Given the description of an element on the screen output the (x, y) to click on. 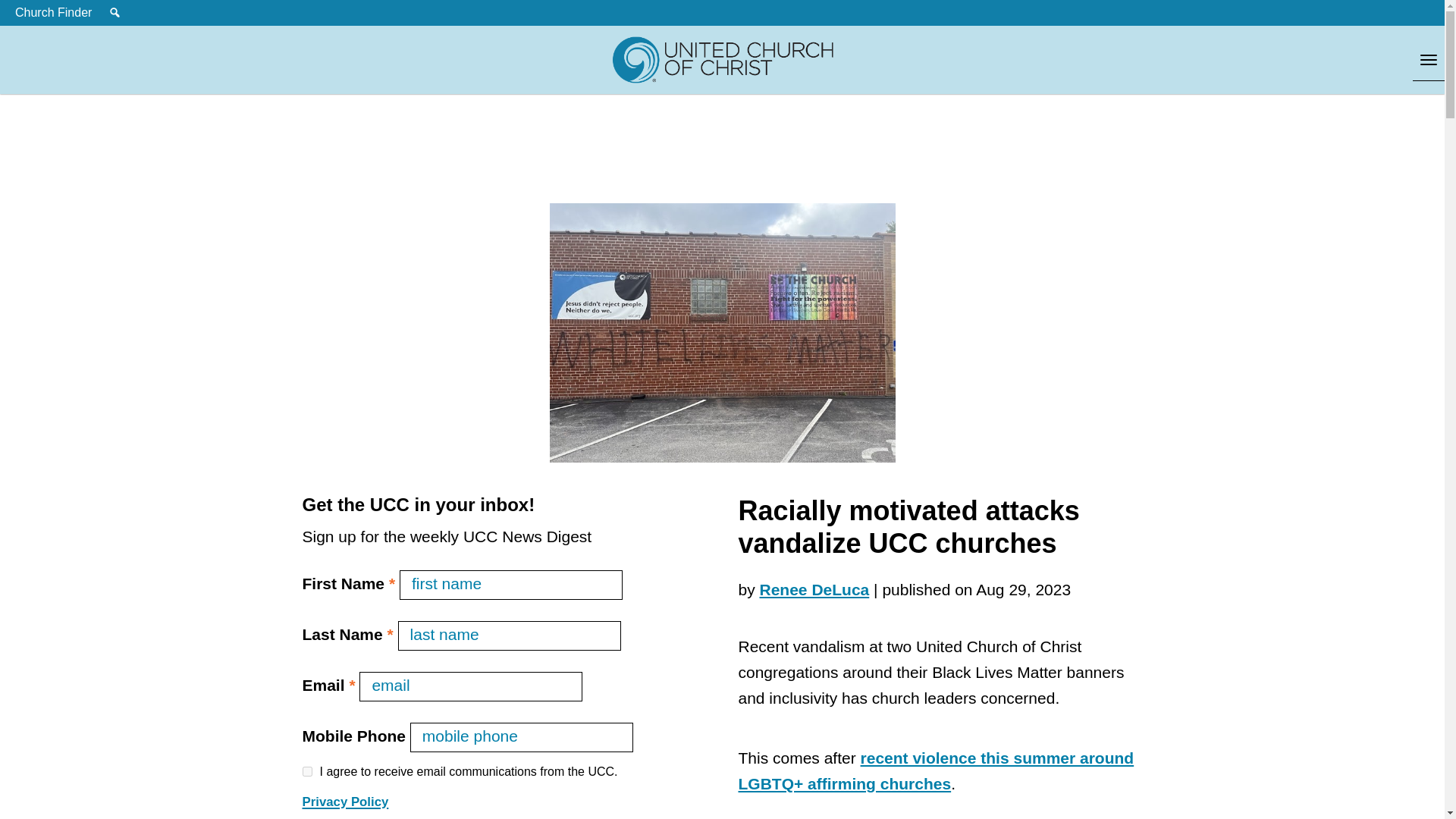
Posts by Renee DeLuca (814, 589)
496 (306, 771)
